Given the description of an element on the screen output the (x, y) to click on. 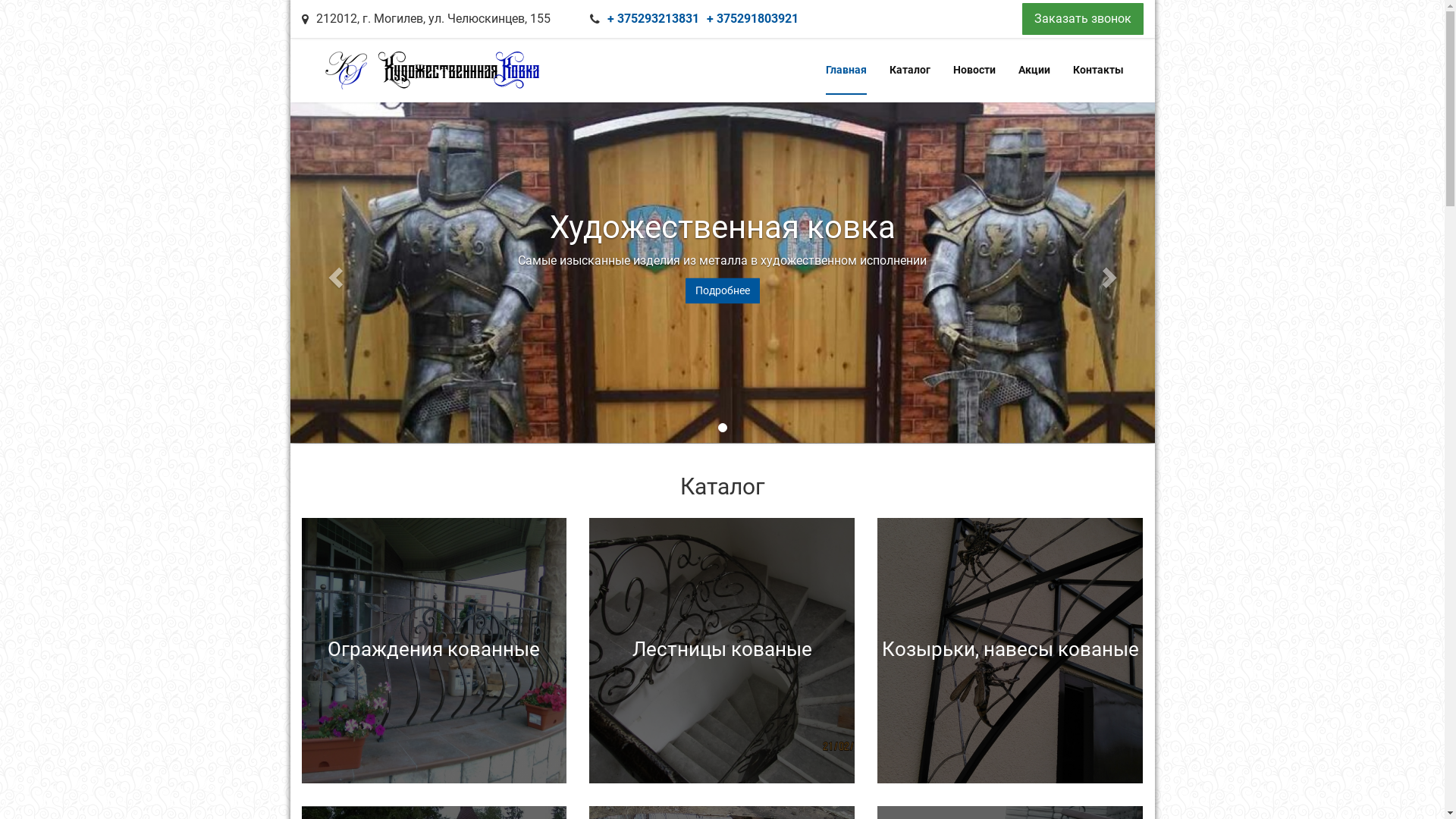
+ 375291803921 Element type: text (752, 18)
+ 375293213831 Element type: text (652, 18)
